Given the description of an element on the screen output the (x, y) to click on. 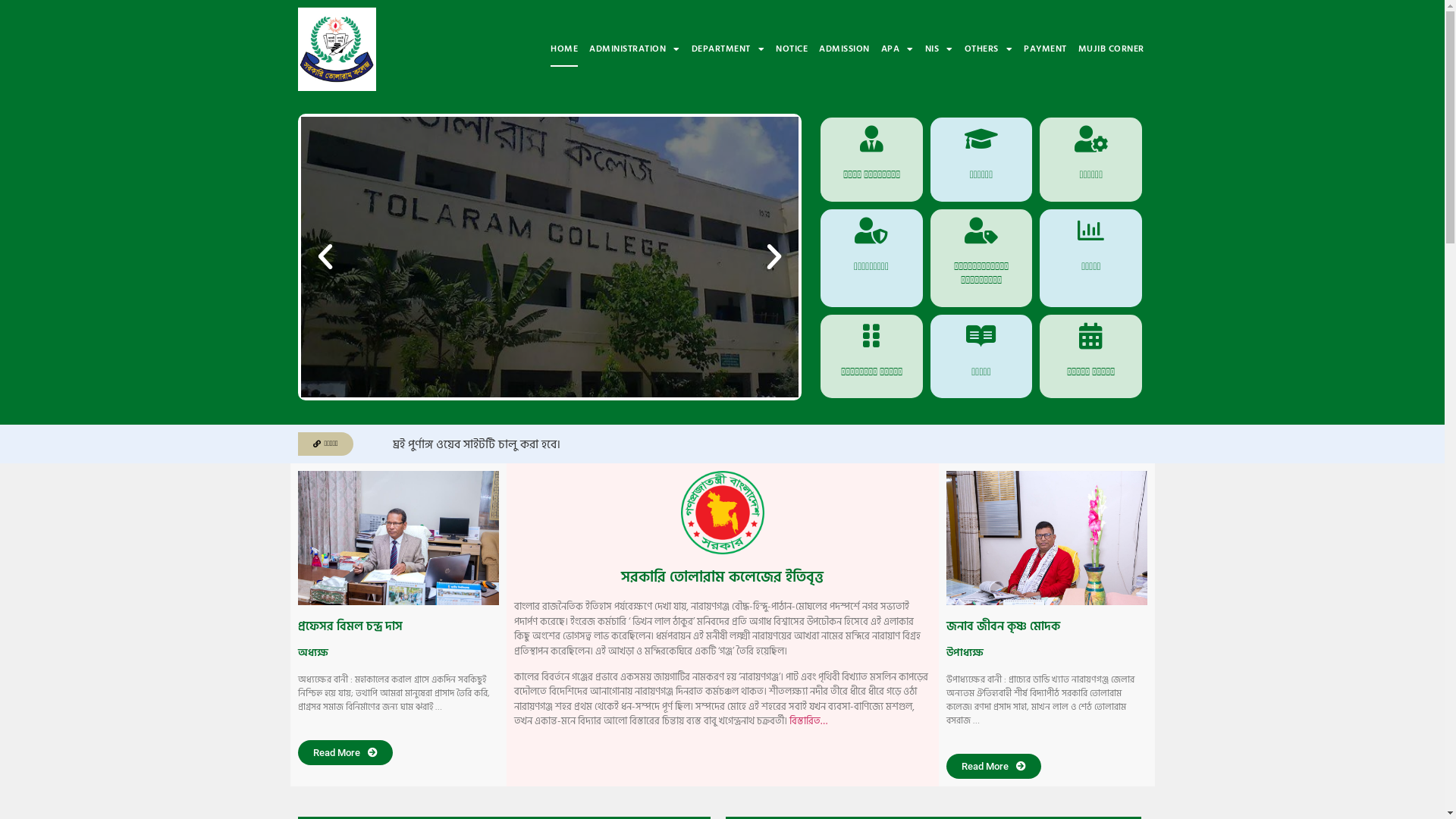
Read More Element type: text (993, 765)
HOME Element type: text (563, 48)
APA Element type: text (897, 48)
OTHERS Element type: text (988, 48)
ADMISSION Element type: text (844, 48)
PAYMENT Element type: text (1044, 48)
Read More Element type: text (344, 752)
MUJIB CORNER Element type: text (1111, 48)
DEPARTMENT Element type: text (728, 48)
NOTICE Element type: text (791, 48)
NIS Element type: text (939, 48)
ADMINISTRATION Element type: text (634, 48)
